Given the description of an element on the screen output the (x, y) to click on. 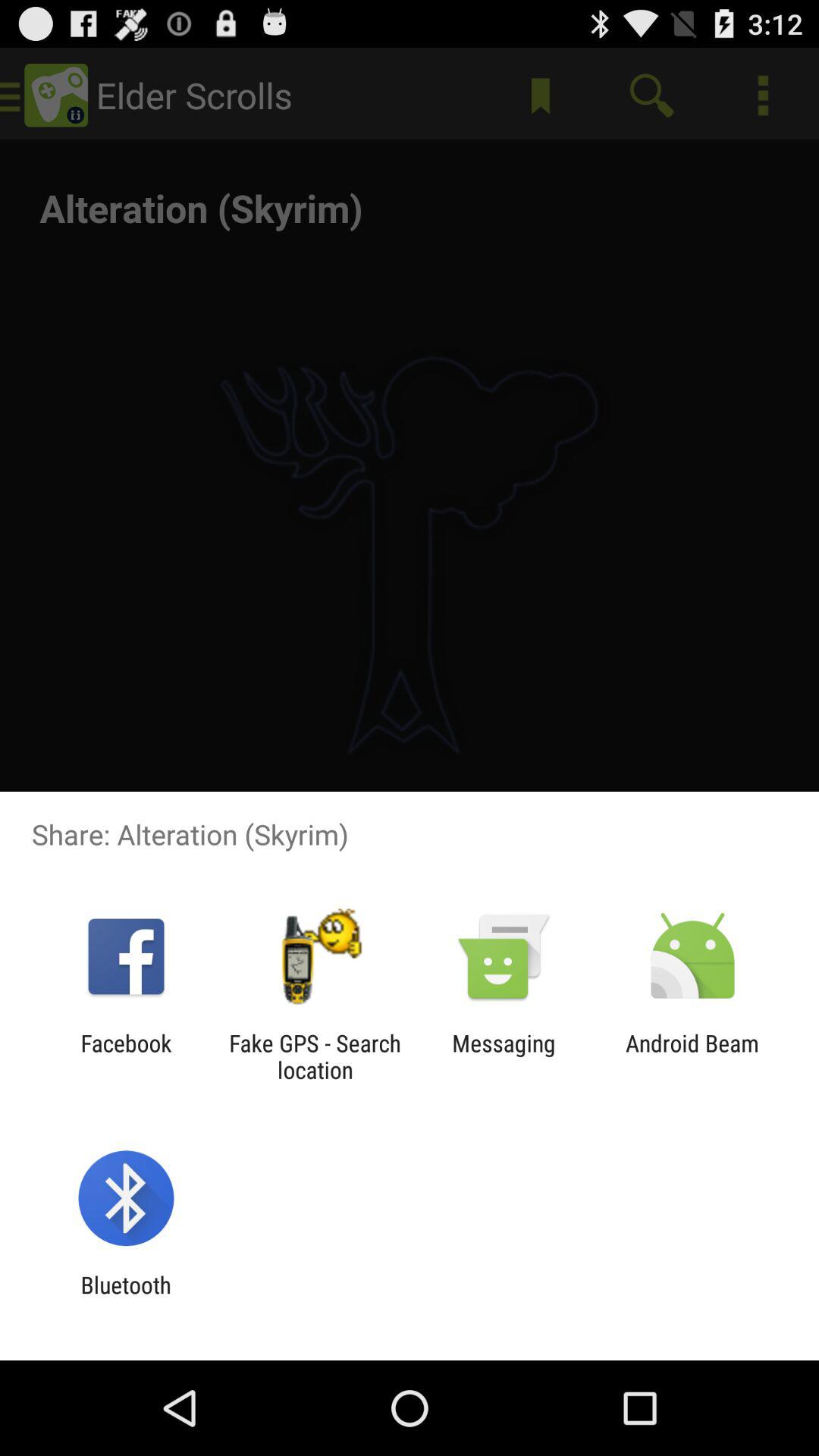
press the facebook (125, 1056)
